Given the description of an element on the screen output the (x, y) to click on. 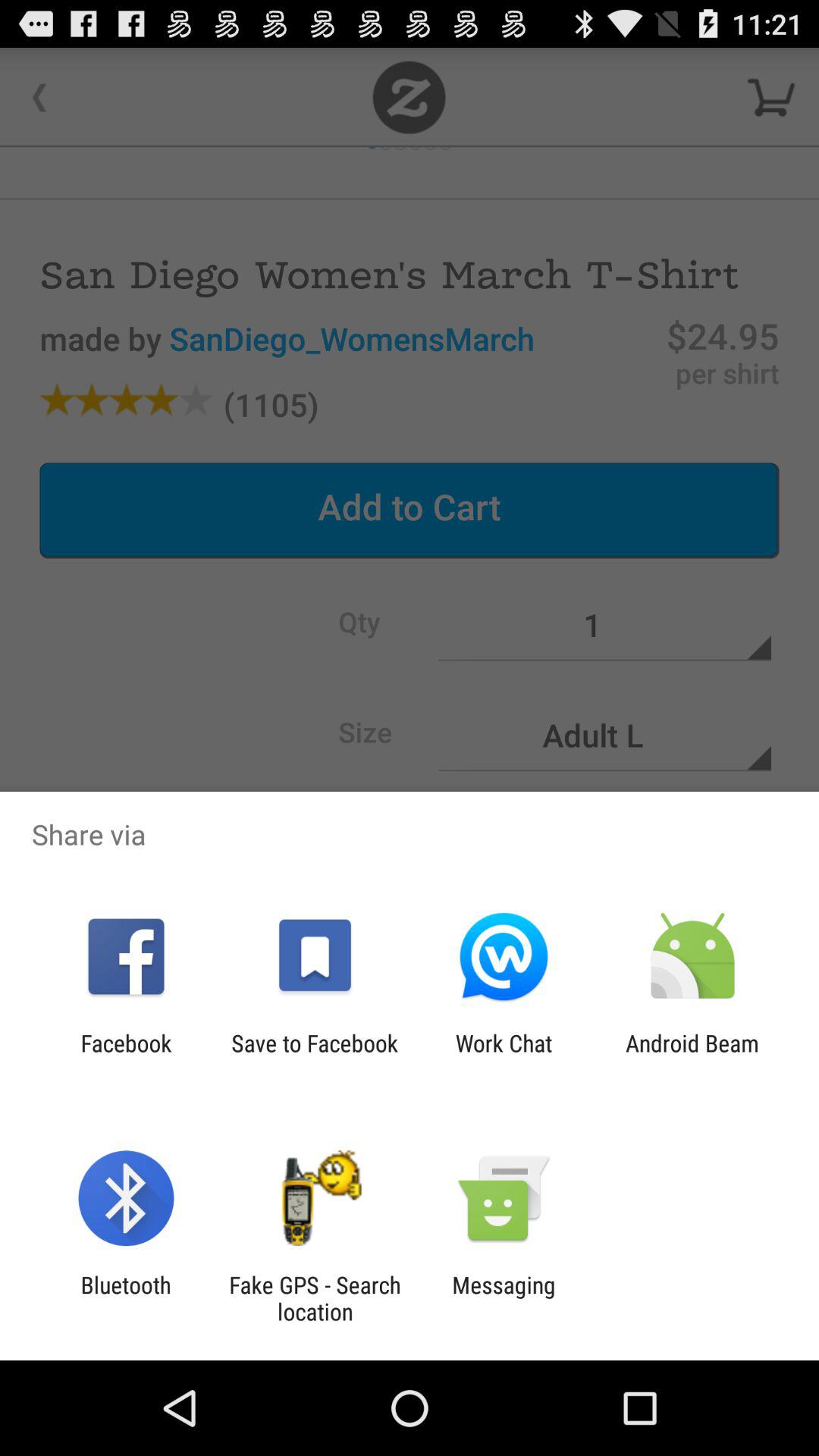
choose app to the right of bluetooth app (314, 1298)
